Given the description of an element on the screen output the (x, y) to click on. 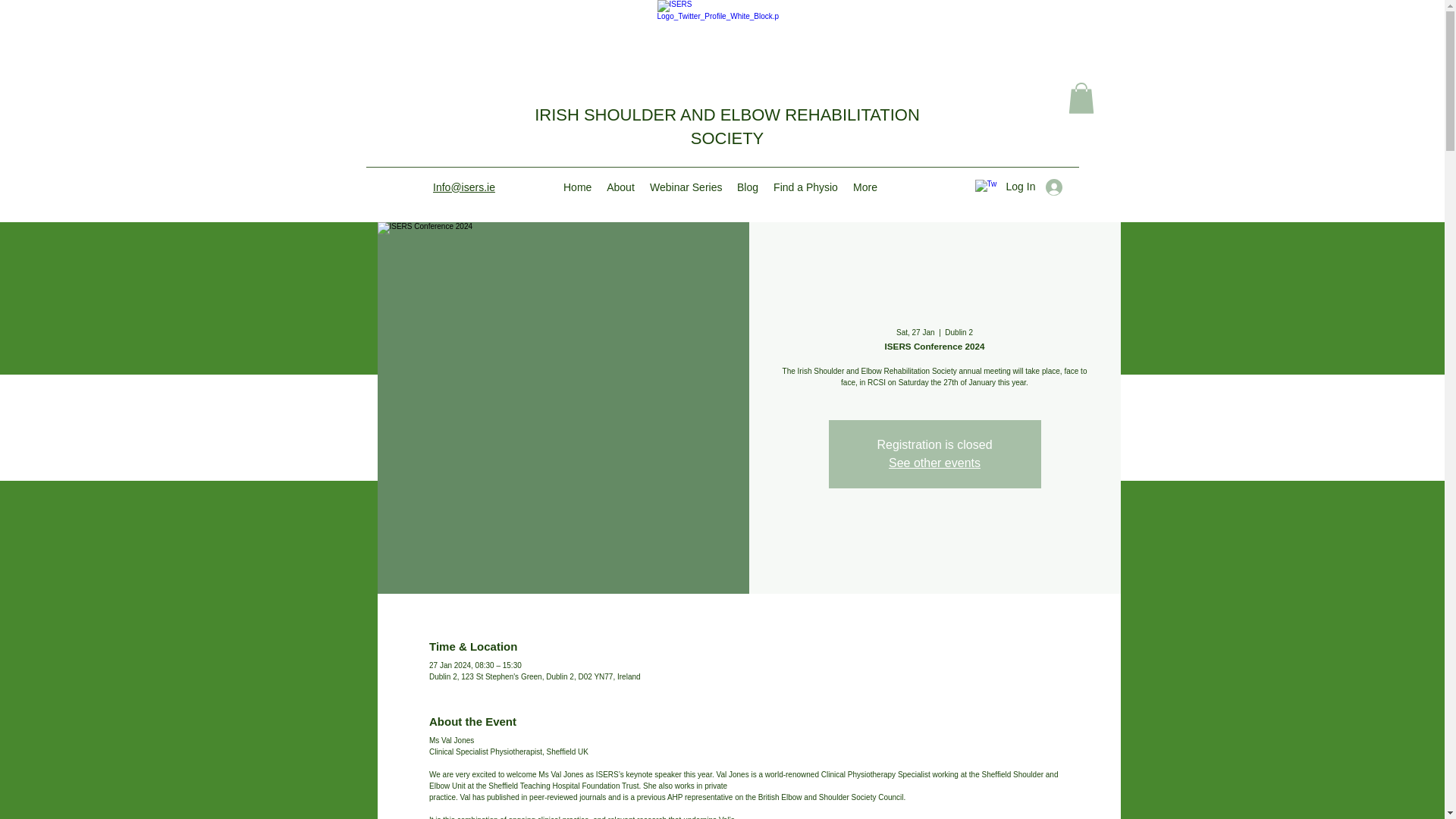
Log In (1033, 186)
Blog (747, 187)
See other events (933, 462)
About (620, 187)
IRISH SHOULDER AND ELBOW REHABILITATION SOCIETY (727, 126)
Find a Physio (805, 187)
Home (577, 187)
